Given the description of an element on the screen output the (x, y) to click on. 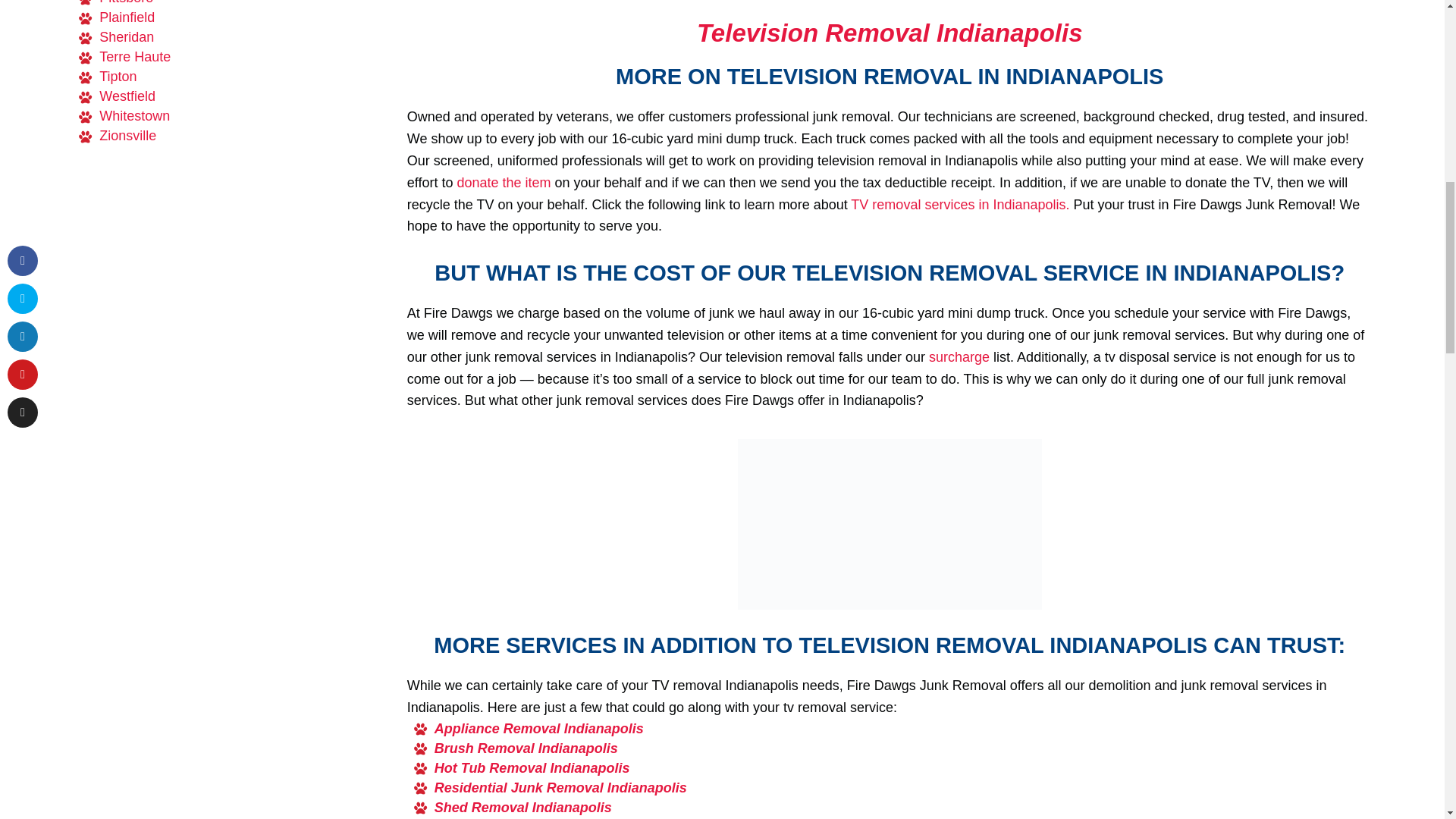
Do junk removal companies donate items? (501, 182)
TV Removal Services in Indianapolis (958, 204)
